Given the description of an element on the screen output the (x, y) to click on. 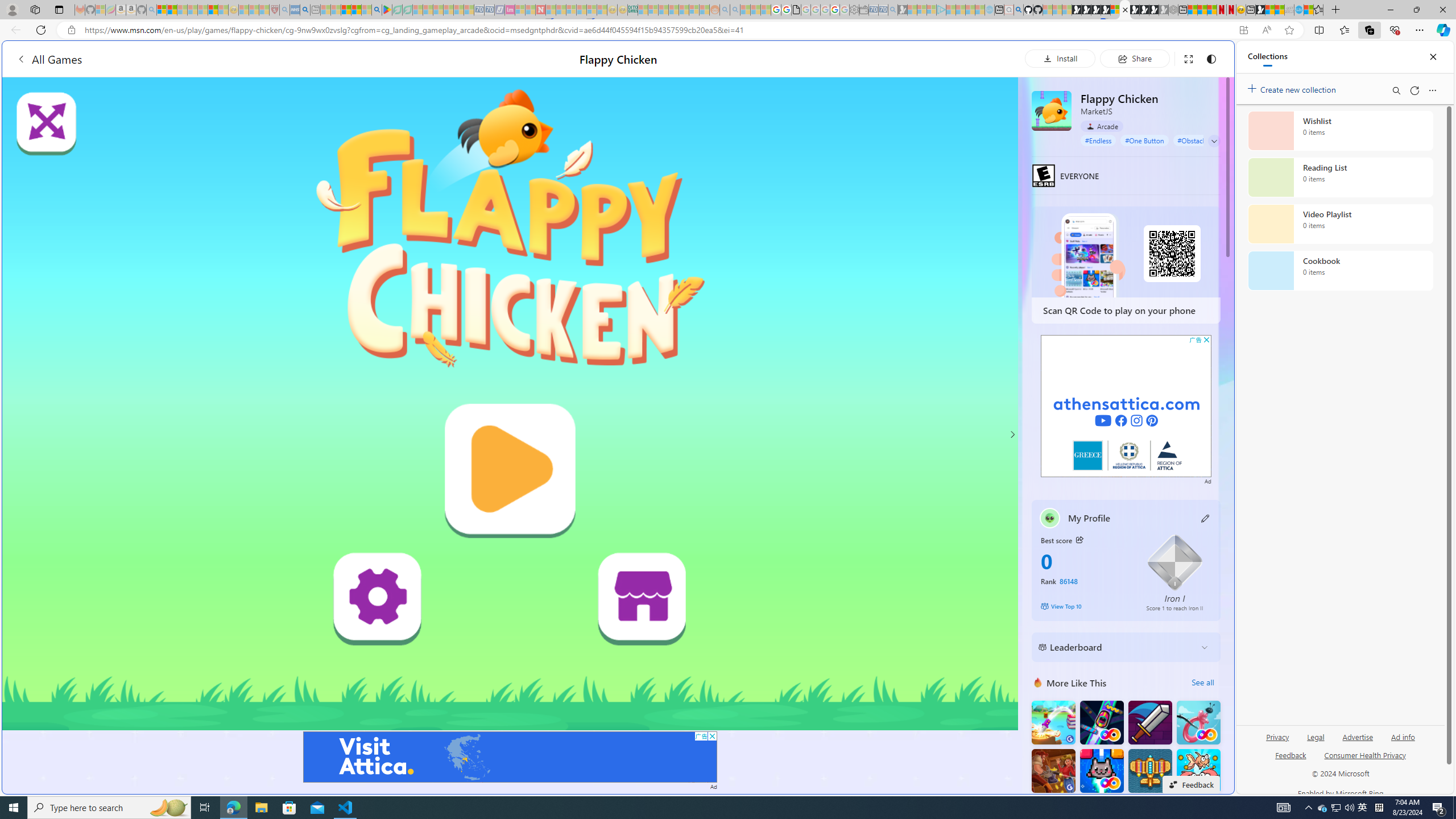
App available. Install Flappy Chicken (1243, 29)
Search or enter web address (922, 108)
Cookbook collection, 0 items (1339, 270)
Sign in to your account (1115, 9)
Balloon FRVR (1198, 722)
EVERYONE (1043, 175)
Leaderboard (1116, 647)
